Given the description of an element on the screen output the (x, y) to click on. 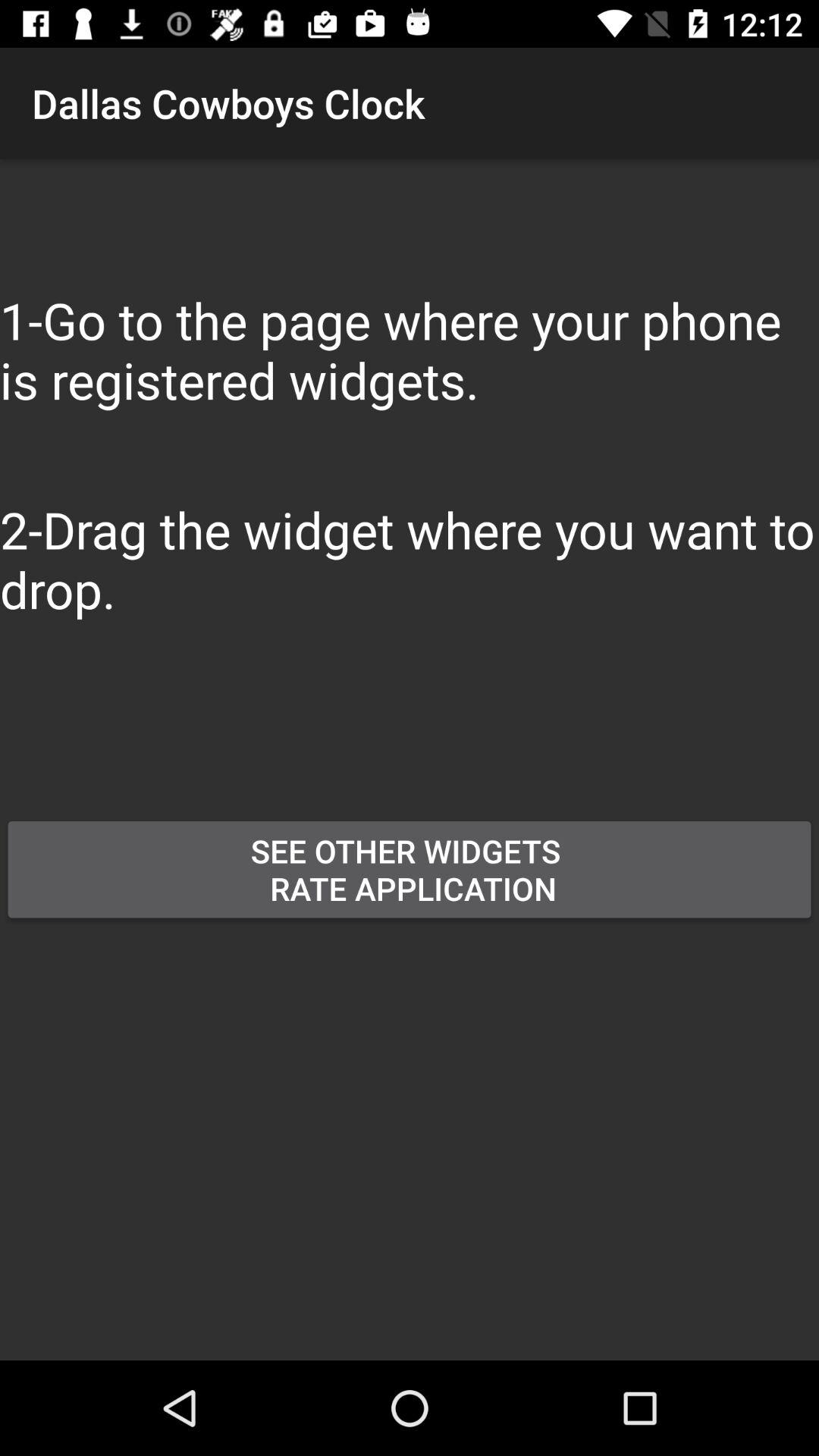
launch the icon below the 2 drag the icon (318, 759)
